Given the description of an element on the screen output the (x, y) to click on. 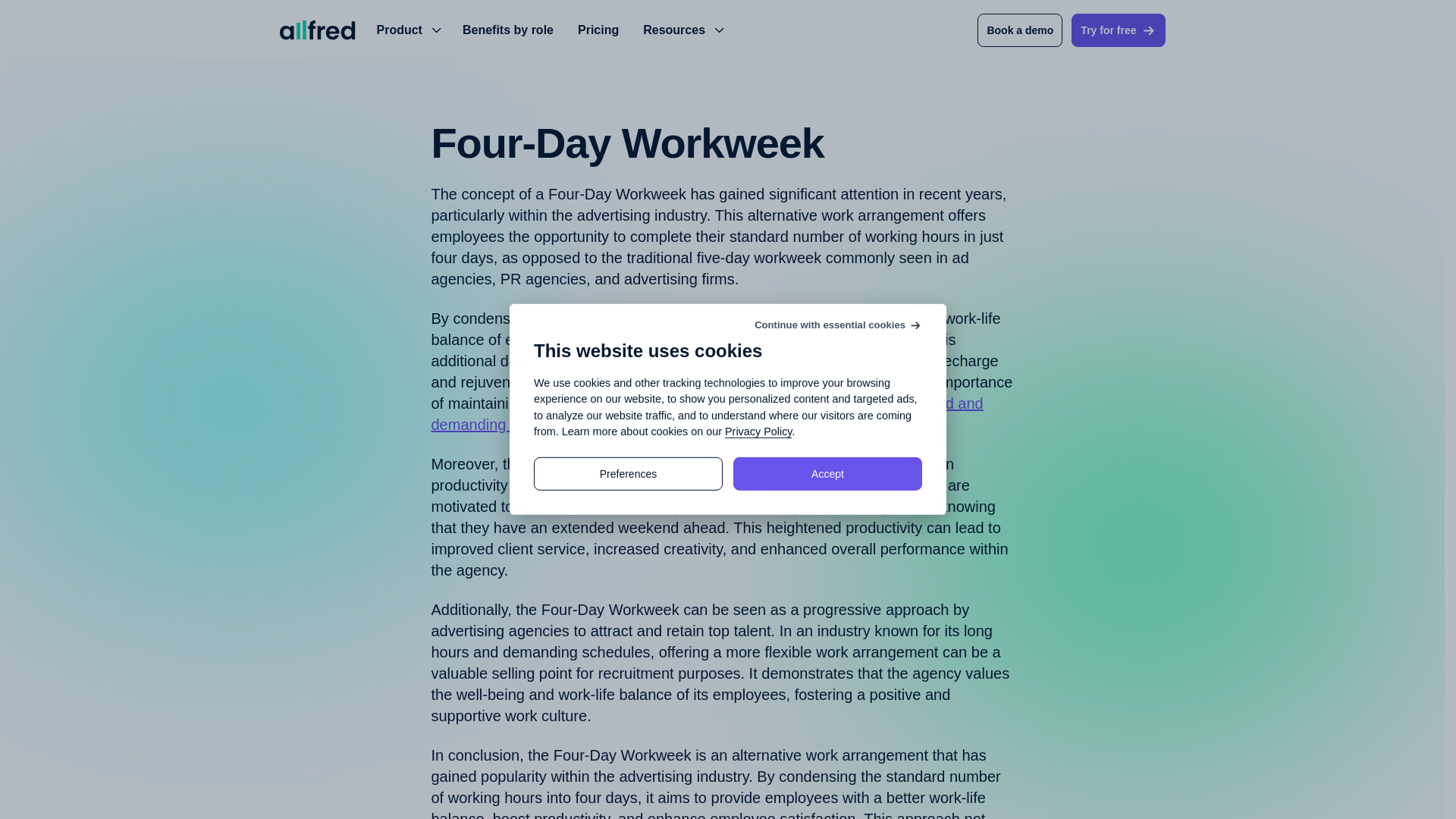
Book a demo (1019, 29)
Pricing (598, 30)
Resources (681, 30)
Try for free (1117, 29)
Product (406, 30)
Benefits by role (508, 30)
